Given the description of an element on the screen output the (x, y) to click on. 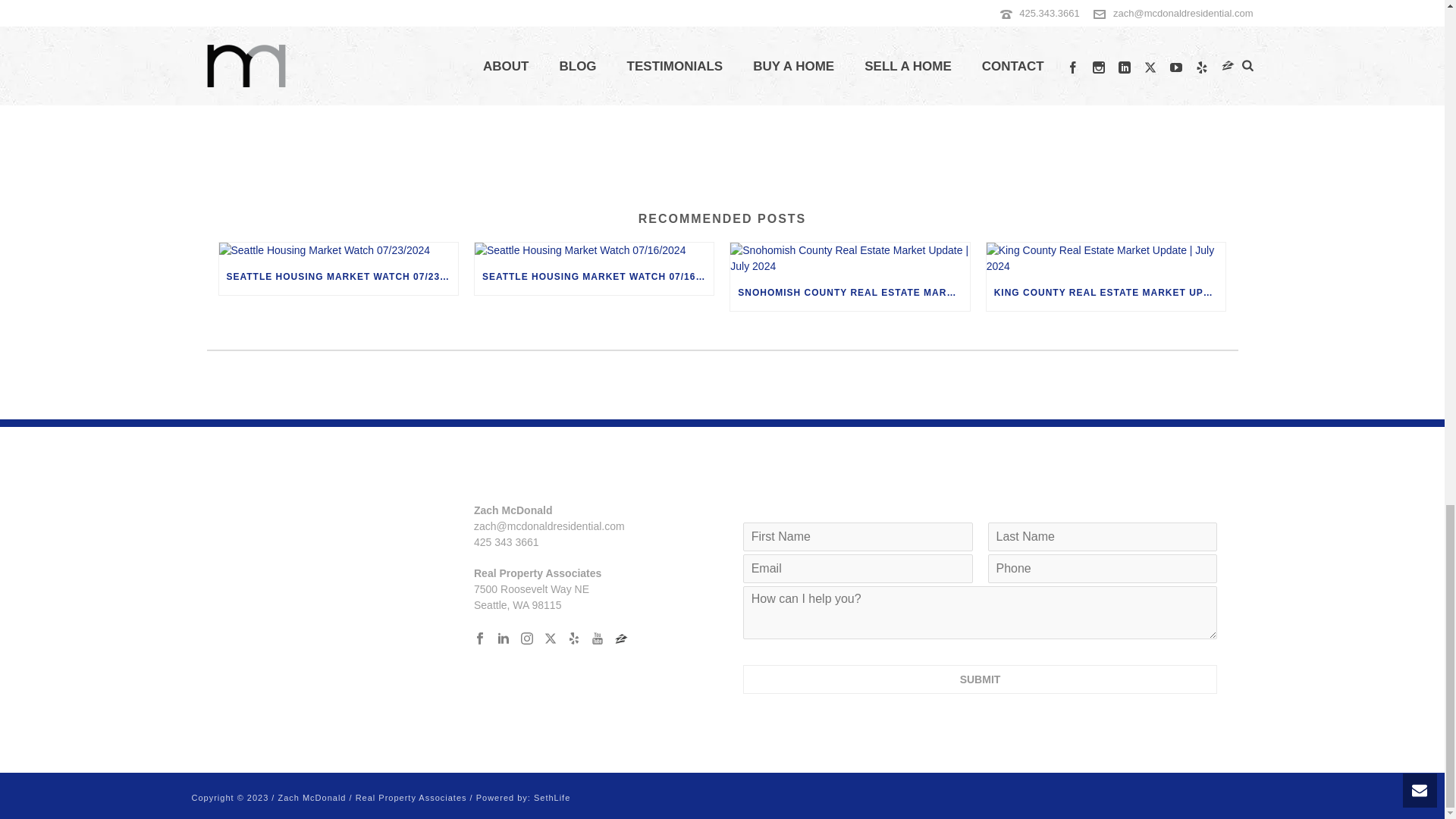
Follow Us on yelp (573, 639)
Follow Us on instagram (526, 639)
